Given the description of an element on the screen output the (x, y) to click on. 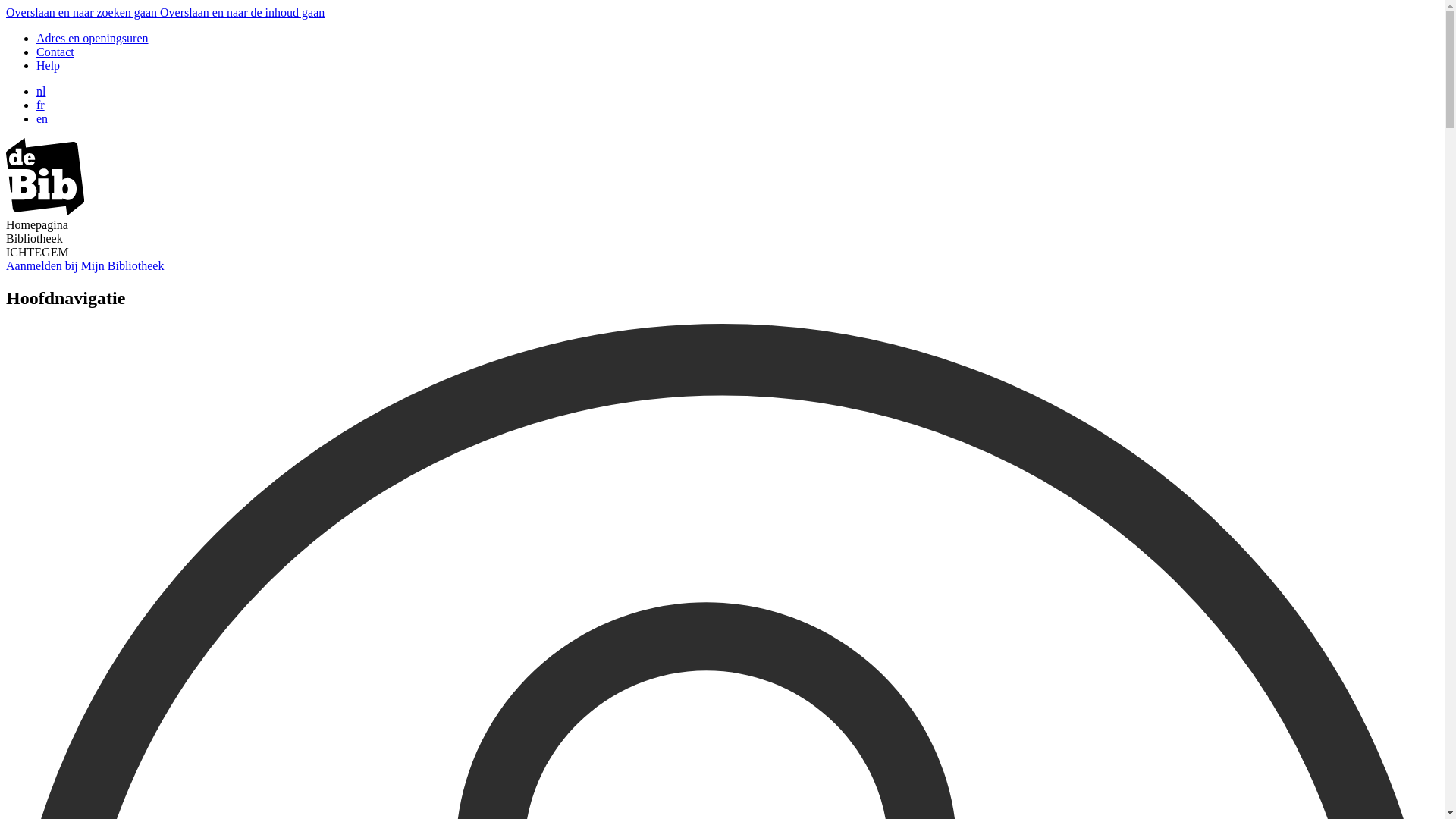
Overslaan en naar de inhoud gaan Element type: text (242, 12)
Adres en openingsuren Element type: text (92, 37)
Help Element type: text (47, 65)
nl Element type: text (40, 90)
Overslaan en naar zoeken gaan Element type: text (83, 12)
Aanmelden bij Mijn Bibliotheek Element type: text (84, 265)
fr Element type: text (40, 104)
Contact Element type: text (55, 51)
en Element type: text (41, 118)
image/svg+xml Element type: text (45, 210)
